Given the description of an element on the screen output the (x, y) to click on. 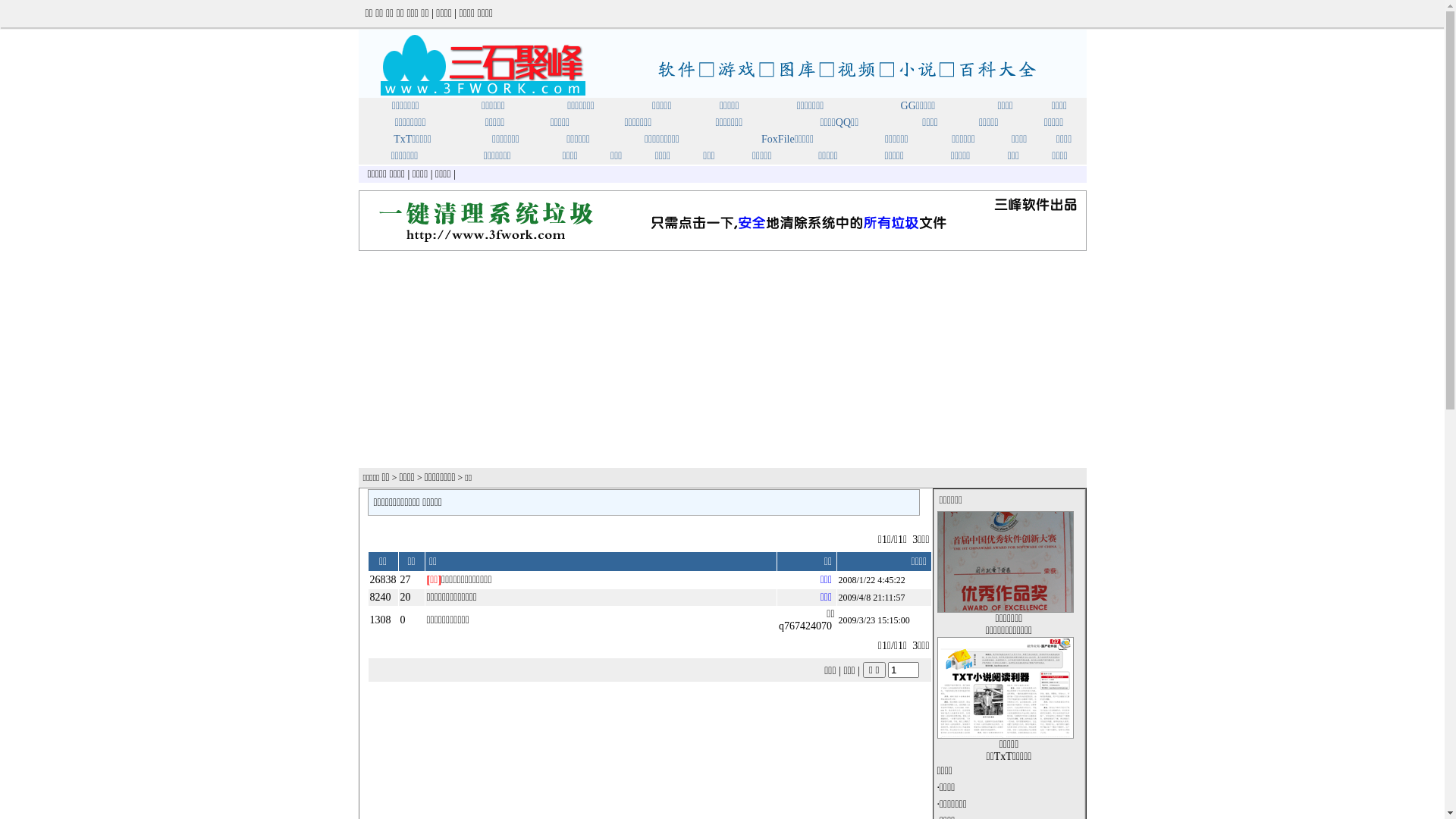
Advertisement Element type: hover (721, 360)
